Given the description of an element on the screen output the (x, y) to click on. 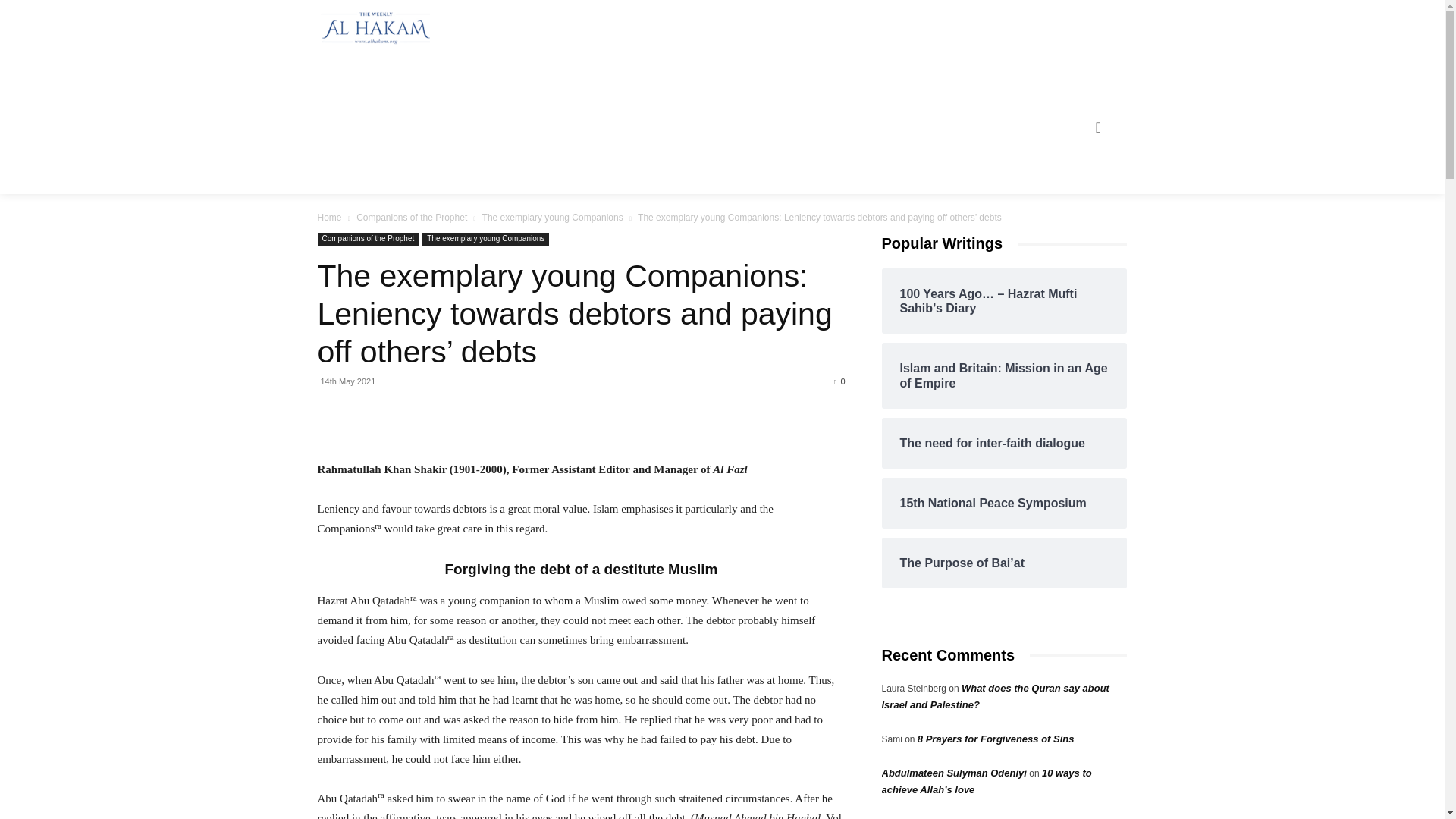
View all posts in The exemplary young Companions (552, 217)
Alhakam (372, 27)
View all posts in Companions of the Prophet (411, 217)
